Given the description of an element on the screen output the (x, y) to click on. 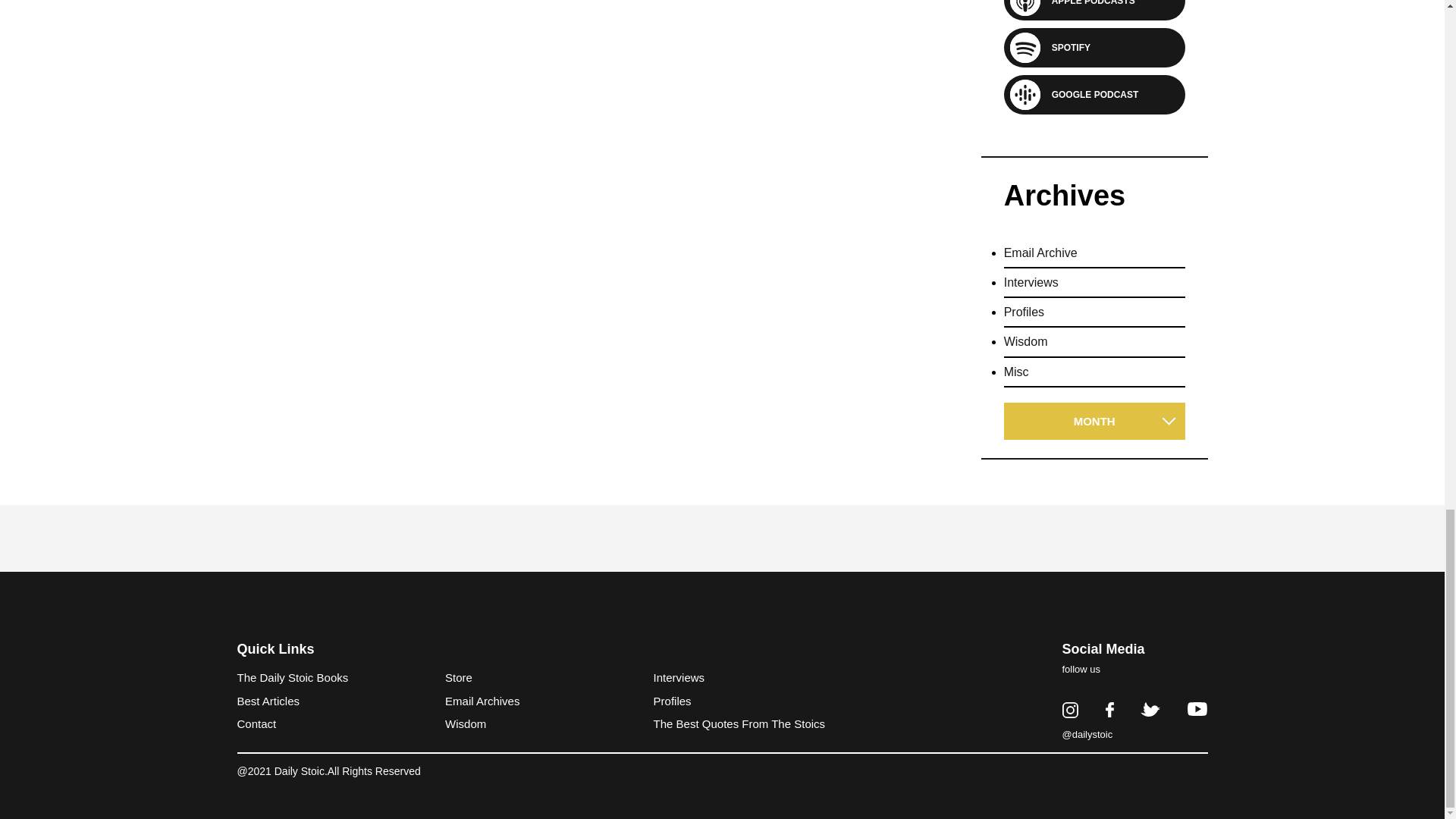
Interviews (1031, 289)
APPLE PODCASTS (1088, 4)
Misc (1016, 379)
GOOGLE PODCAST (1089, 94)
Wisdom (1026, 348)
SPOTIFY (1065, 47)
Email Archive (1040, 260)
Profiles (1023, 319)
